Given the description of an element on the screen output the (x, y) to click on. 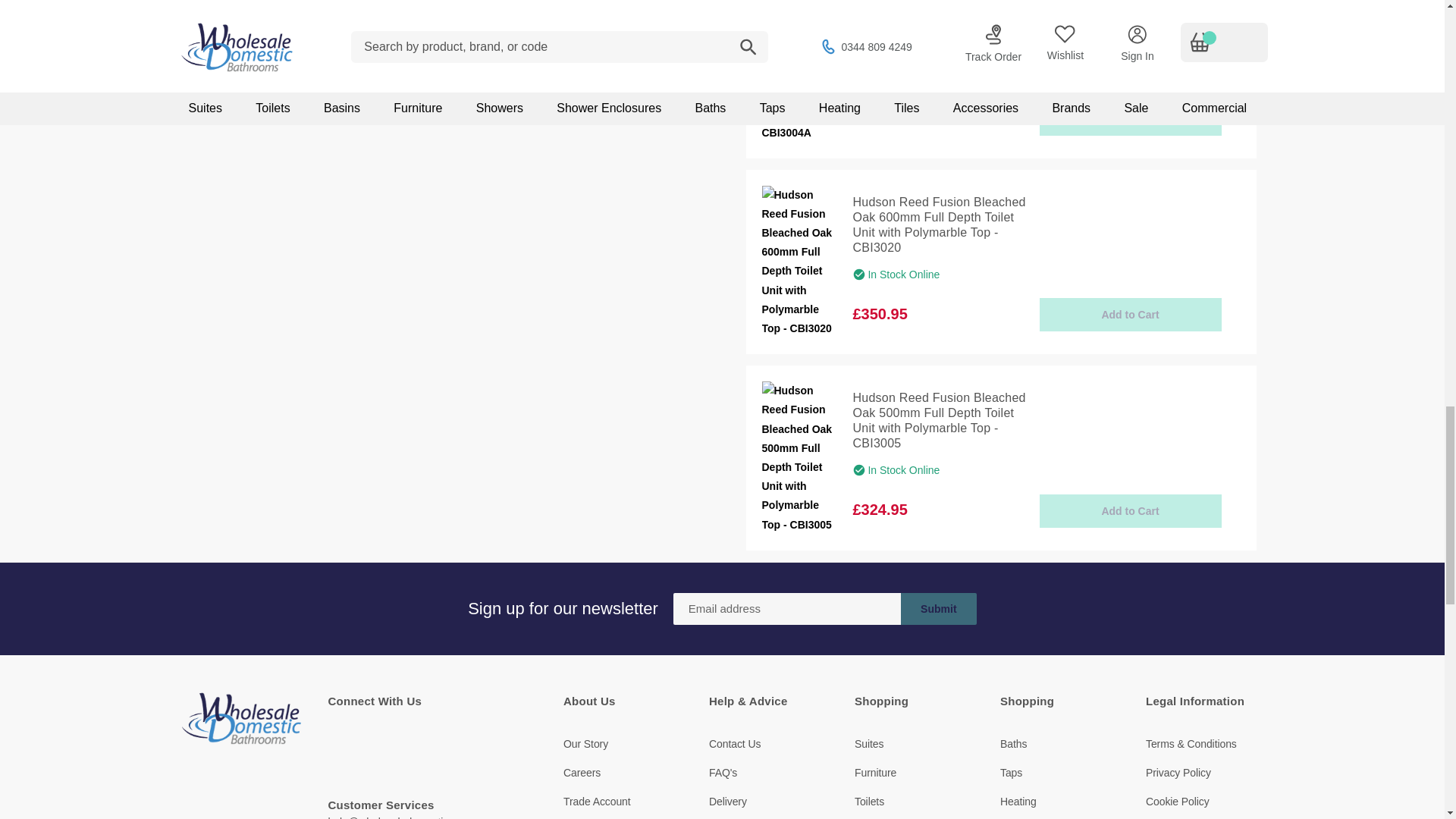
Submit (938, 608)
Add to Cart (1130, 314)
Add to Cart (1130, 118)
Add to Cart (1130, 510)
